Given the description of an element on the screen output the (x, y) to click on. 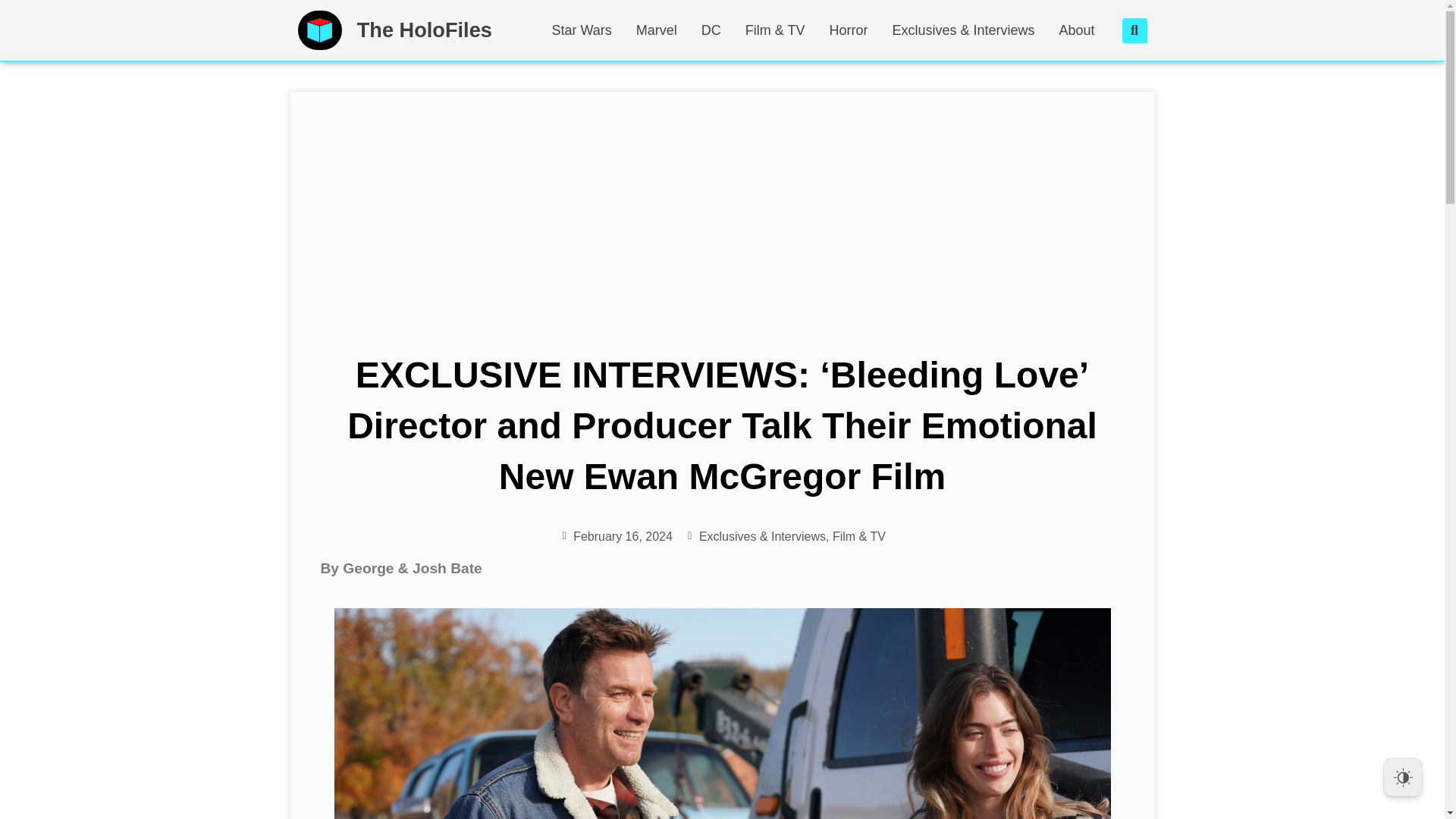
Star Wars (580, 30)
Marvel (656, 30)
DC (710, 30)
Horror (847, 30)
The HoloFiles (424, 29)
About (1080, 30)
